Given the description of an element on the screen output the (x, y) to click on. 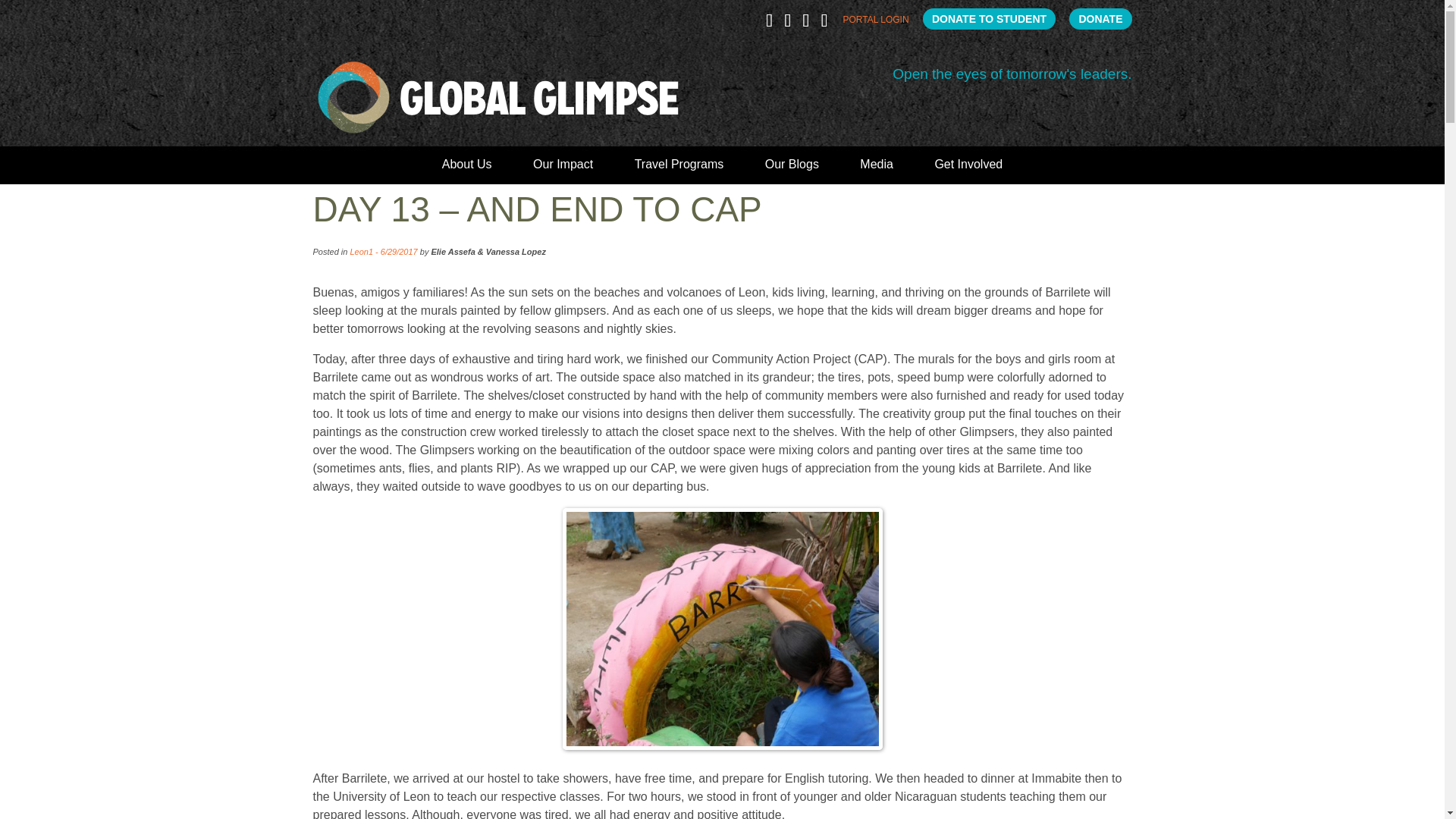
Our Impact (562, 169)
Our Blogs (791, 169)
PORTAL LOGIN (875, 23)
Travel Programs (678, 169)
DONATE TO STUDENT (989, 18)
DONATE (1099, 18)
Media (876, 169)
Get Involved (968, 169)
About Us (467, 169)
